Given the description of an element on the screen output the (x, y) to click on. 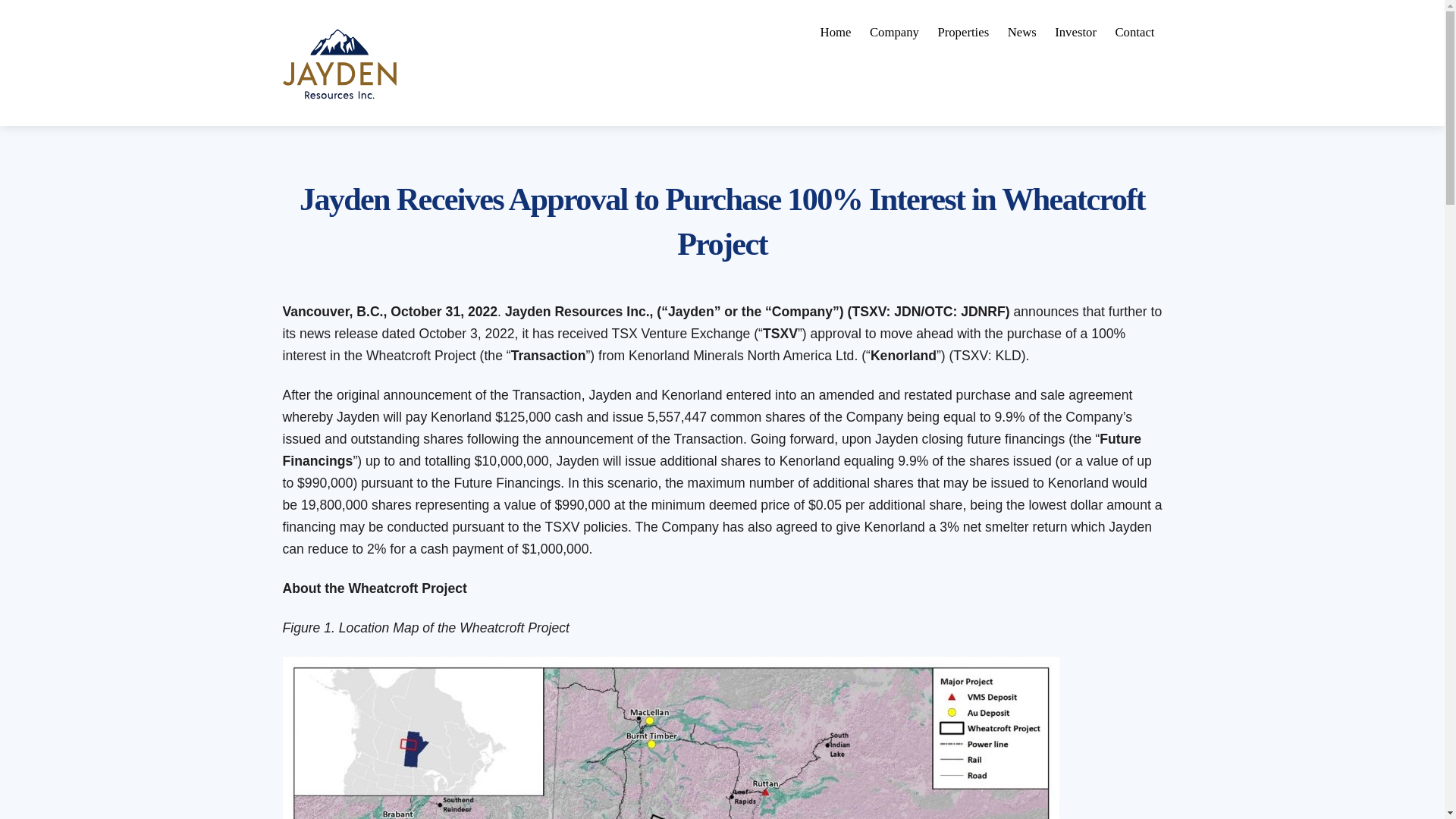
Jayden Resources Inc. (721, 31)
Properties (339, 63)
News (962, 31)
Home (1021, 31)
Jayden Resources (835, 31)
Contact (339, 98)
Company (1133, 31)
Investor (893, 31)
